Given the description of an element on the screen output the (x, y) to click on. 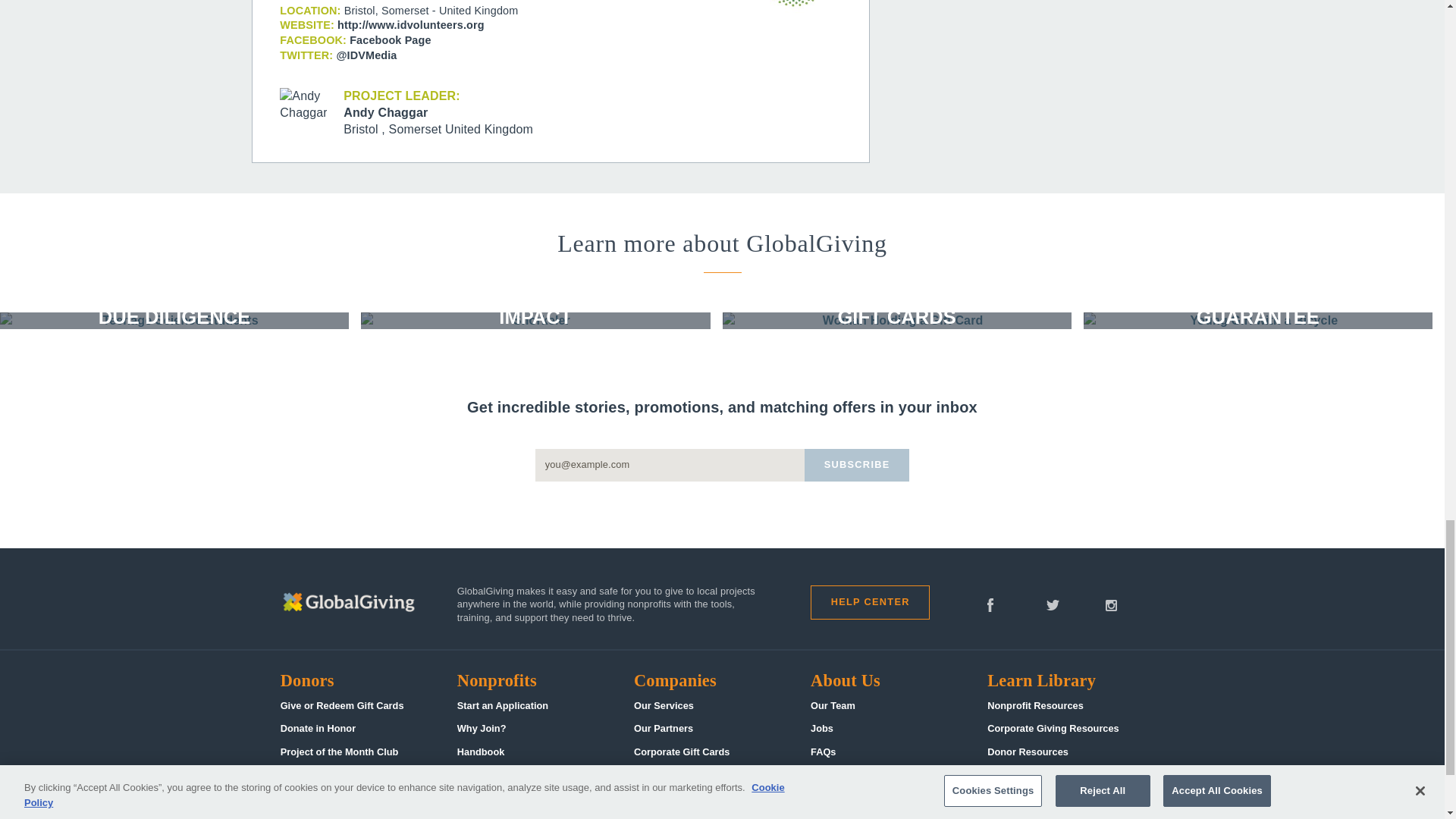
Email address (670, 464)
